Given the description of an element on the screen output the (x, y) to click on. 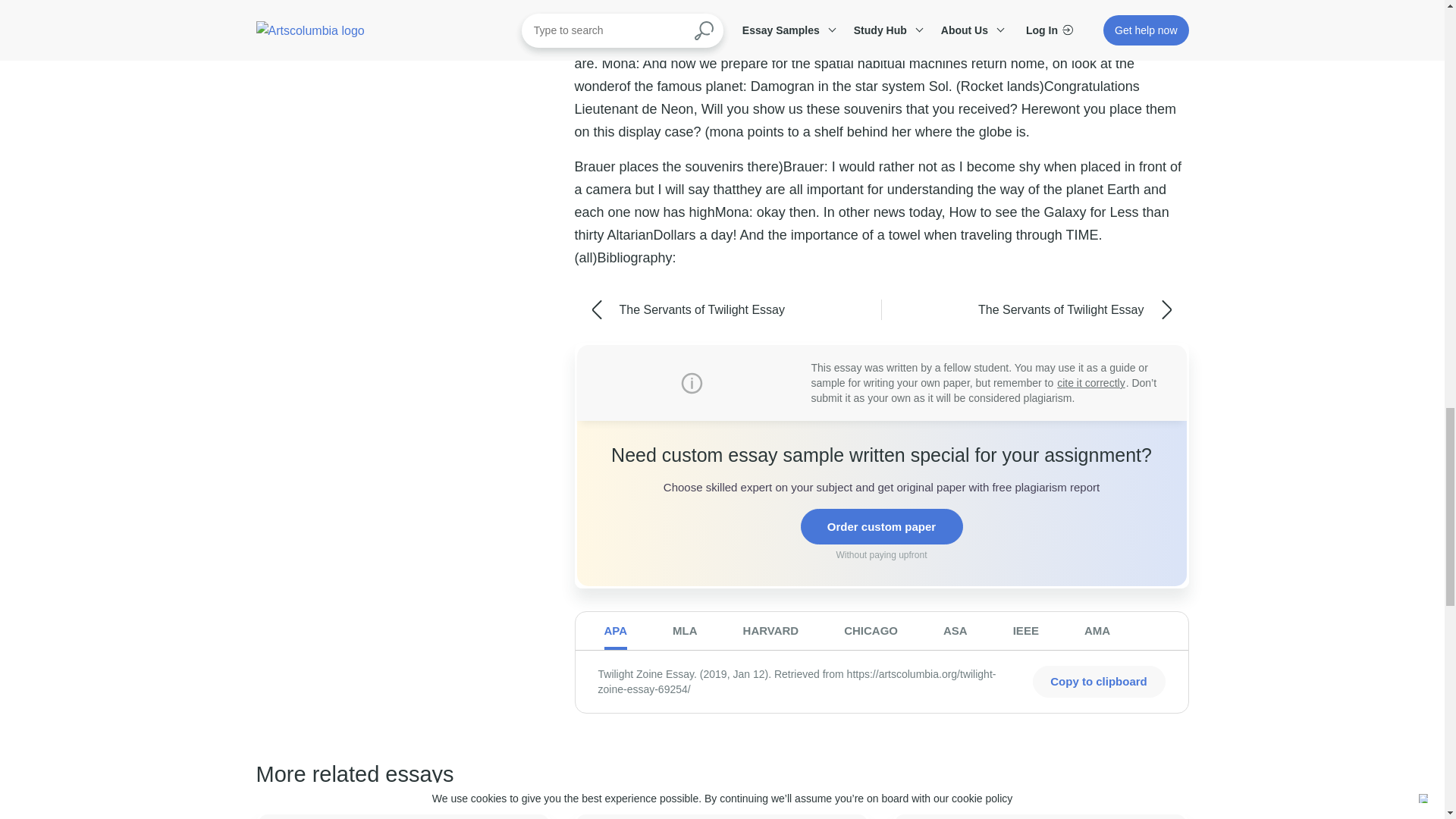
The Servants of Twilight Essay (702, 309)
